Given the description of an element on the screen output the (x, y) to click on. 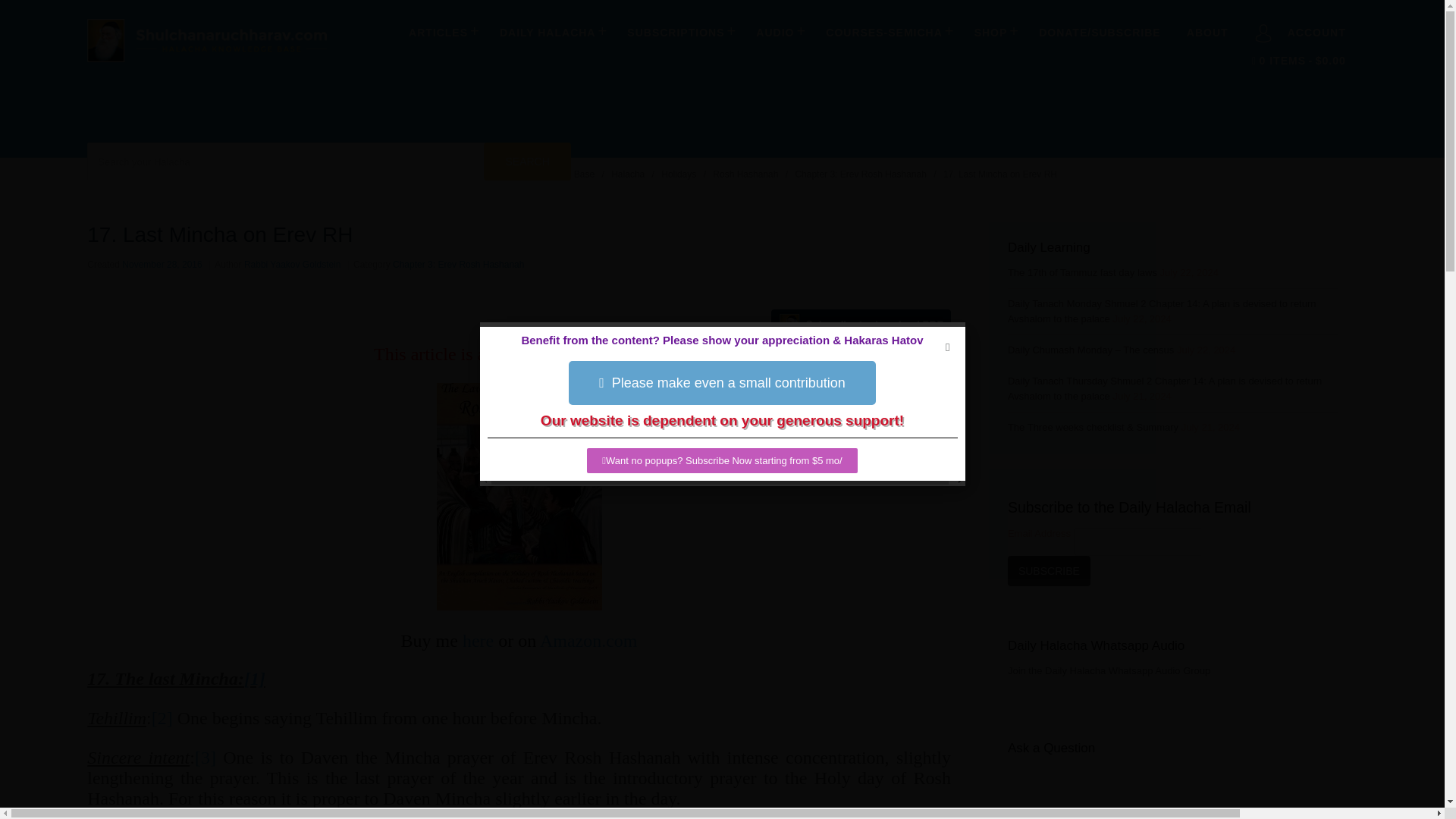
Knowledge Base (560, 173)
Rabbi Yaakov Goldstein (292, 264)
Subscribe (1048, 571)
View all posts in Holidays (679, 173)
View all posts in Rosh Hashanah (746, 173)
17. Last Mincha on Erev RH (1000, 173)
View all posts in Chapter 3: Erev Rosh Hashanah (861, 173)
Home (498, 173)
ARTICLES (440, 31)
View all posts in Halacha (628, 173)
Shulchanaruchharav.com (206, 62)
Start shopping (1298, 60)
